Given the description of an element on the screen output the (x, y) to click on. 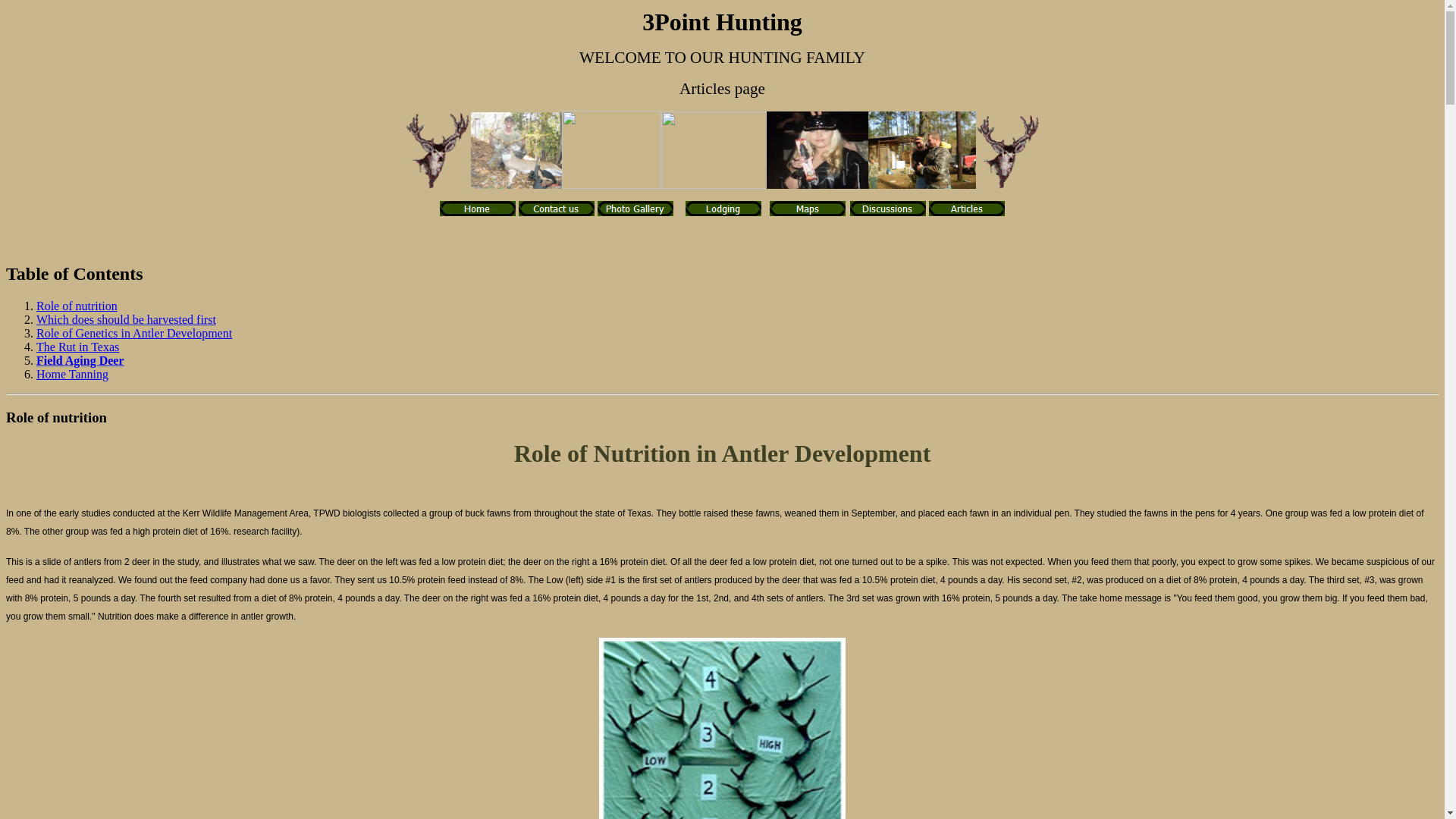
Role of nutrition Element type: text (56, 417)
Field Aging Deer Element type: text (80, 360)
Table of Contents Element type: text (74, 273)
The Rut in Texas Element type: text (77, 346)
Role of nutrition Element type: text (76, 305)
Home Tanning Element type: text (72, 373)
Which does should be harvested first Element type: text (126, 319)
Role of Genetics in Antler Development Element type: text (134, 332)
